Given the description of an element on the screen output the (x, y) to click on. 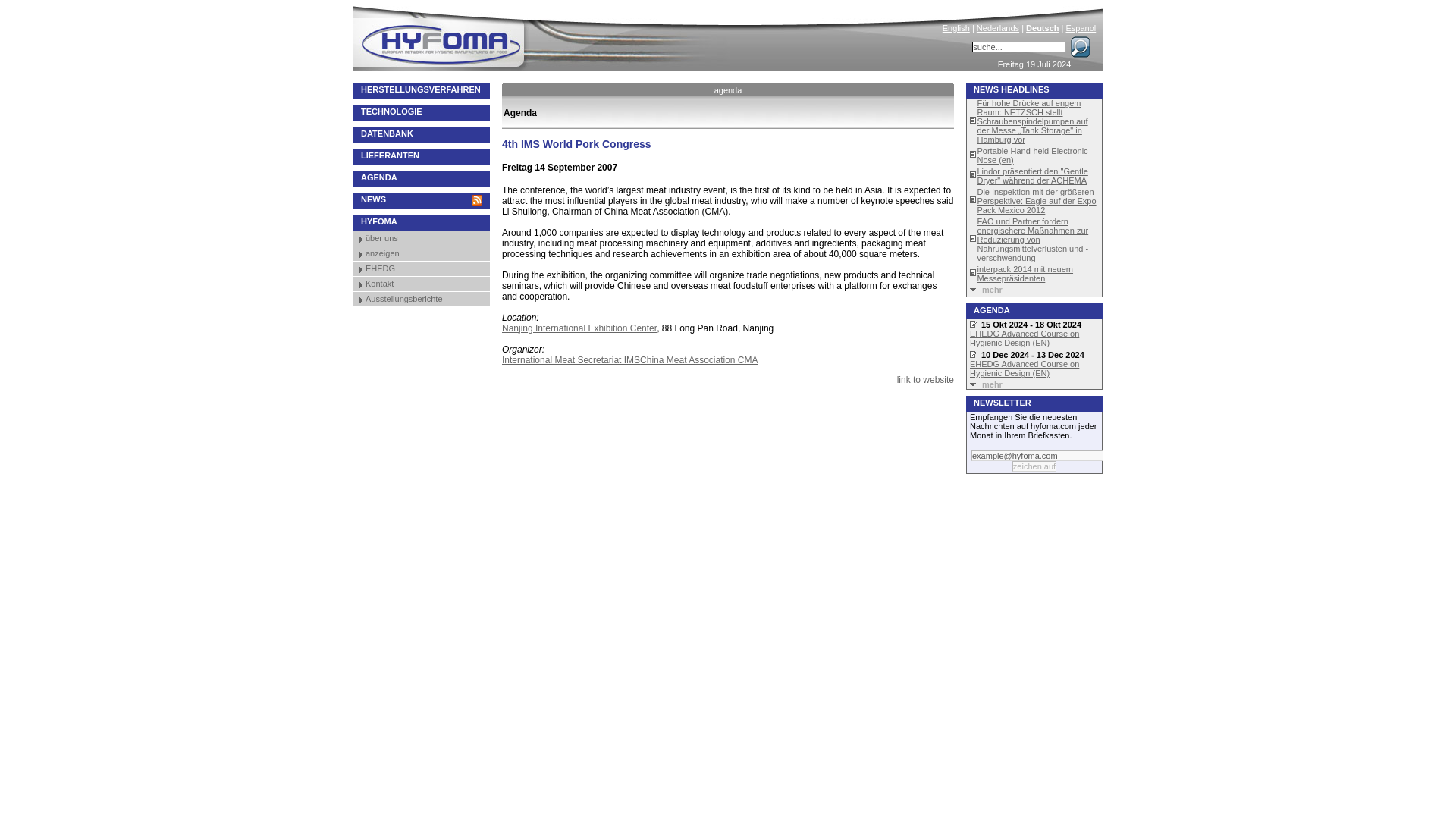
agenda (727, 89)
DATENBANK (421, 134)
China Meat Association CMA (698, 359)
Deutsch (1042, 27)
International Meat Secretariat IMS (571, 359)
HERSTELLUNGSVERFAHREN (421, 90)
Home (543, 34)
Nederlands (997, 27)
Espanol (1080, 27)
suche... (1018, 46)
zeichen auf (1034, 466)
TECHNOLOGIE (421, 112)
English (955, 27)
link to website (924, 379)
Nanjing International Exhibition Center (579, 327)
